Given the description of an element on the screen output the (x, y) to click on. 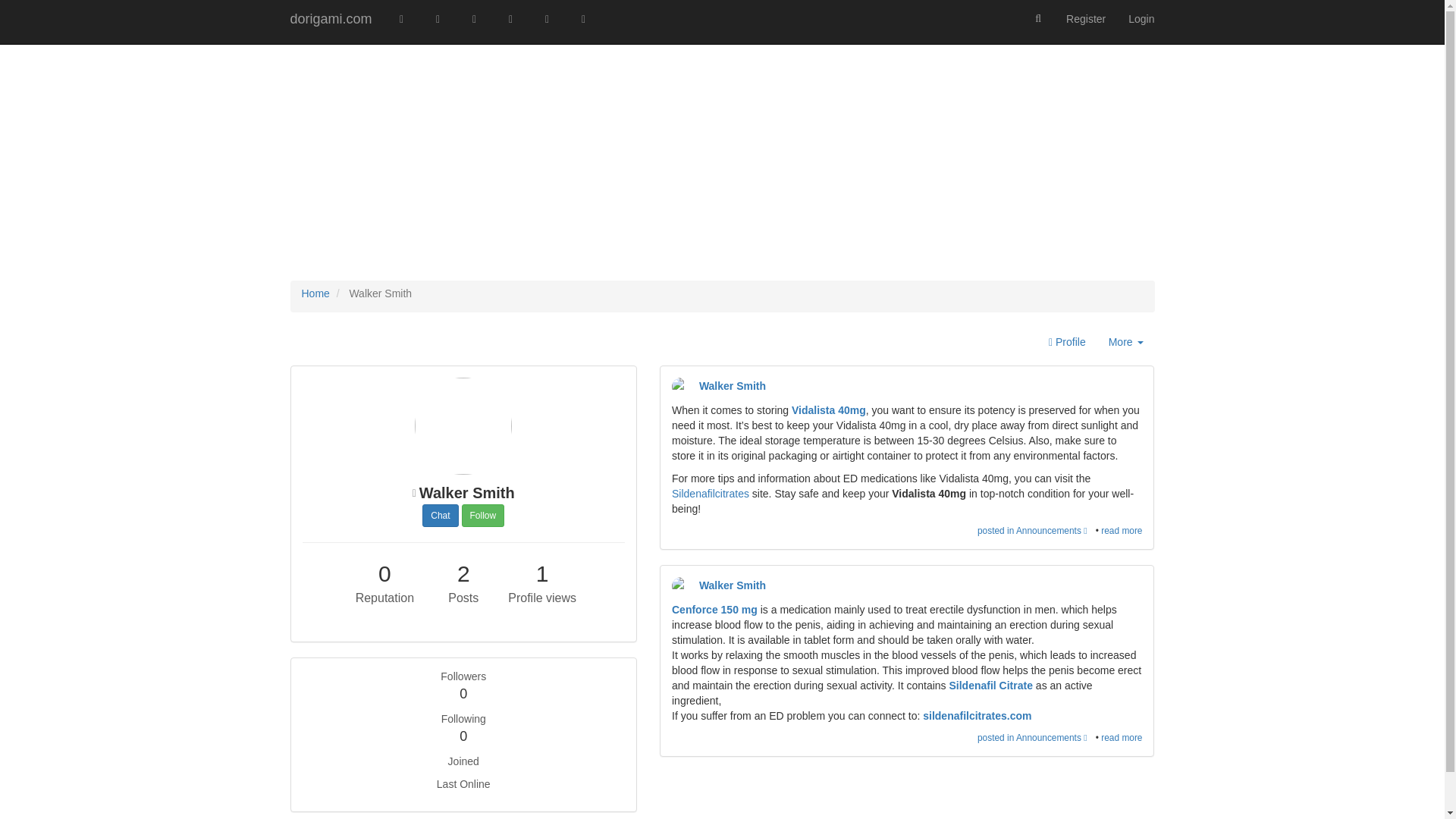
posted in Announcements (1036, 530)
Sildenafilcitrates (1125, 342)
Tags (710, 493)
Cenforce 150 mg (475, 18)
Offline (714, 609)
Walker Smith (414, 495)
Follow (680, 386)
Home (483, 515)
Groups (315, 293)
Users (582, 18)
Sildenafil Citrate (546, 18)
0 (990, 685)
Vidalista 40mg (384, 573)
Chat (829, 410)
